Given the description of an element on the screen output the (x, y) to click on. 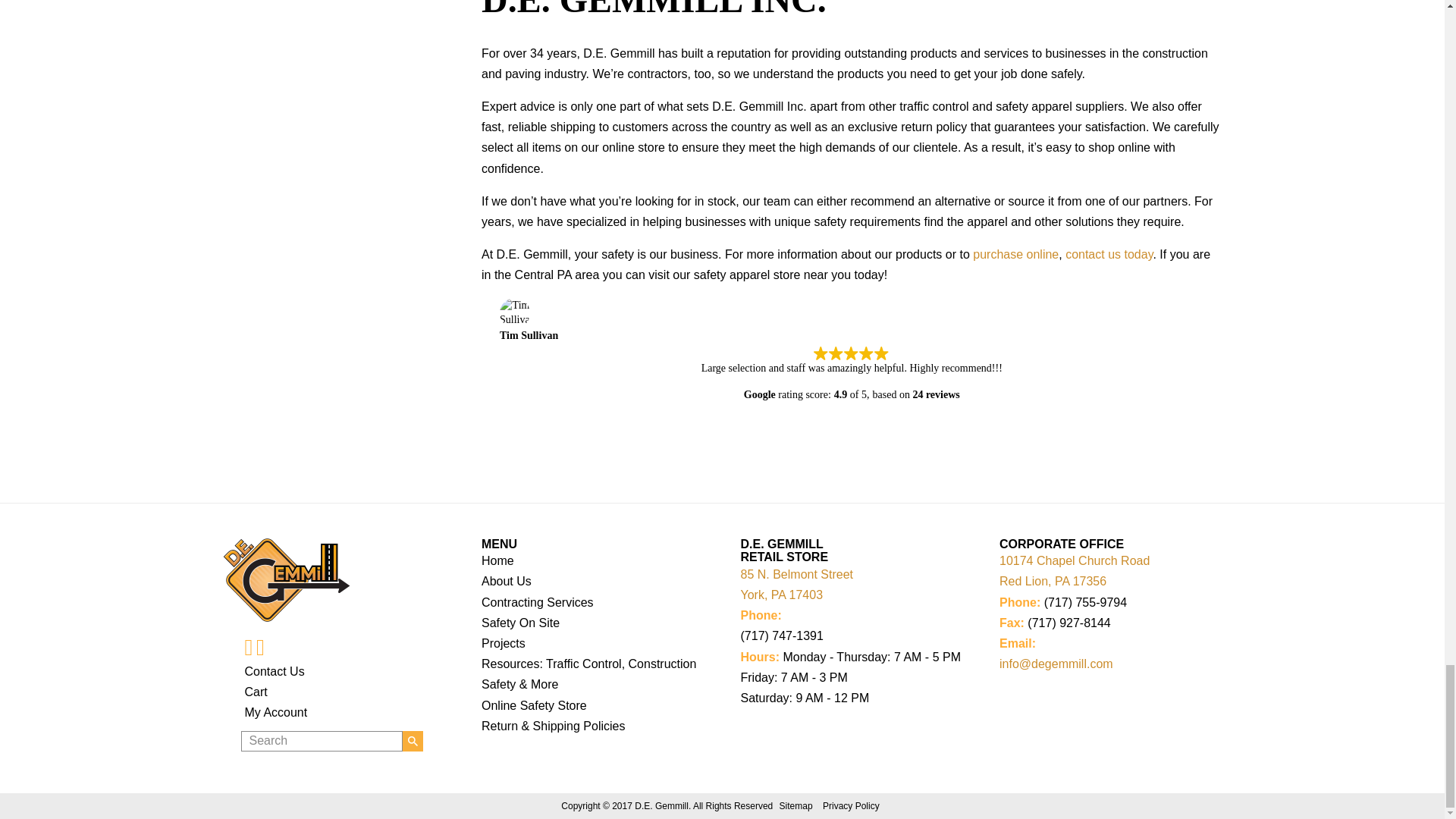
Search (322, 741)
Search (322, 741)
